Given the description of an element on the screen output the (x, y) to click on. 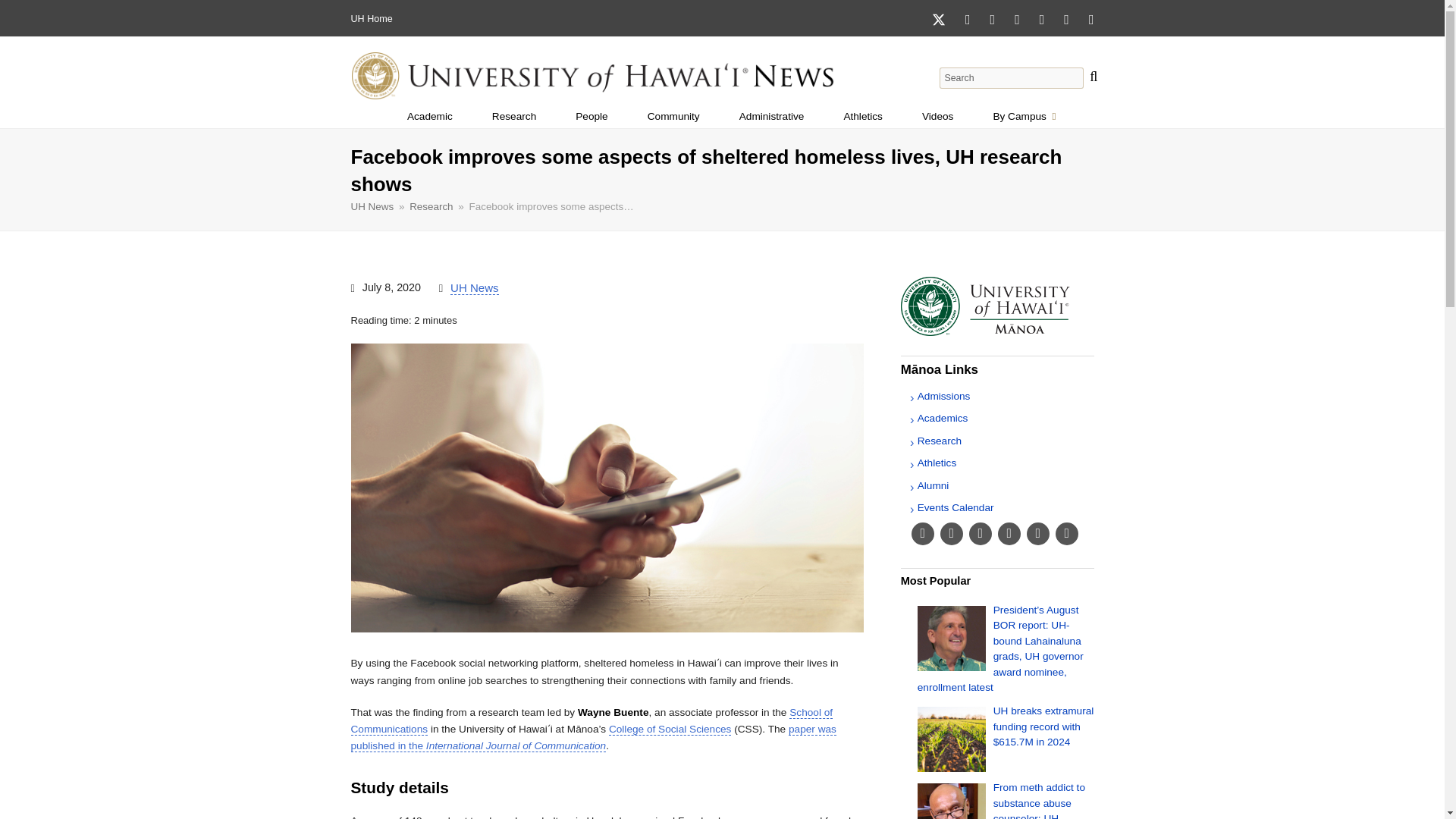
UH Home (370, 18)
Athletics (863, 116)
People (591, 116)
Research (1023, 116)
Posts by UH News (513, 116)
Videos (473, 287)
Community (937, 116)
Administrative (673, 116)
